Given the description of an element on the screen output the (x, y) to click on. 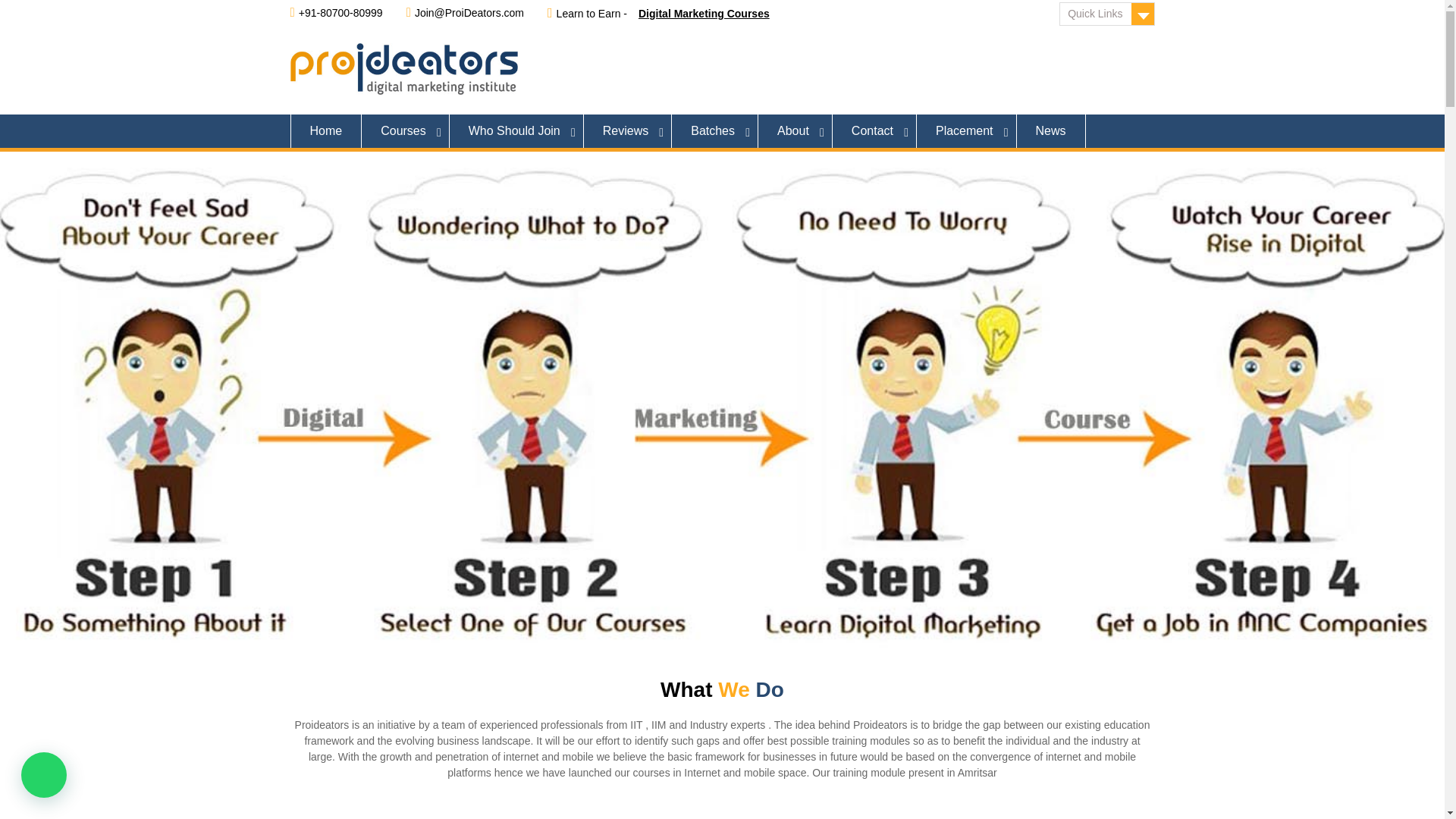
Quick Links (1106, 13)
Home (325, 131)
Digital Marketing Courses (704, 13)
Courses (405, 131)
Who Should Join (516, 131)
